Given the description of an element on the screen output the (x, y) to click on. 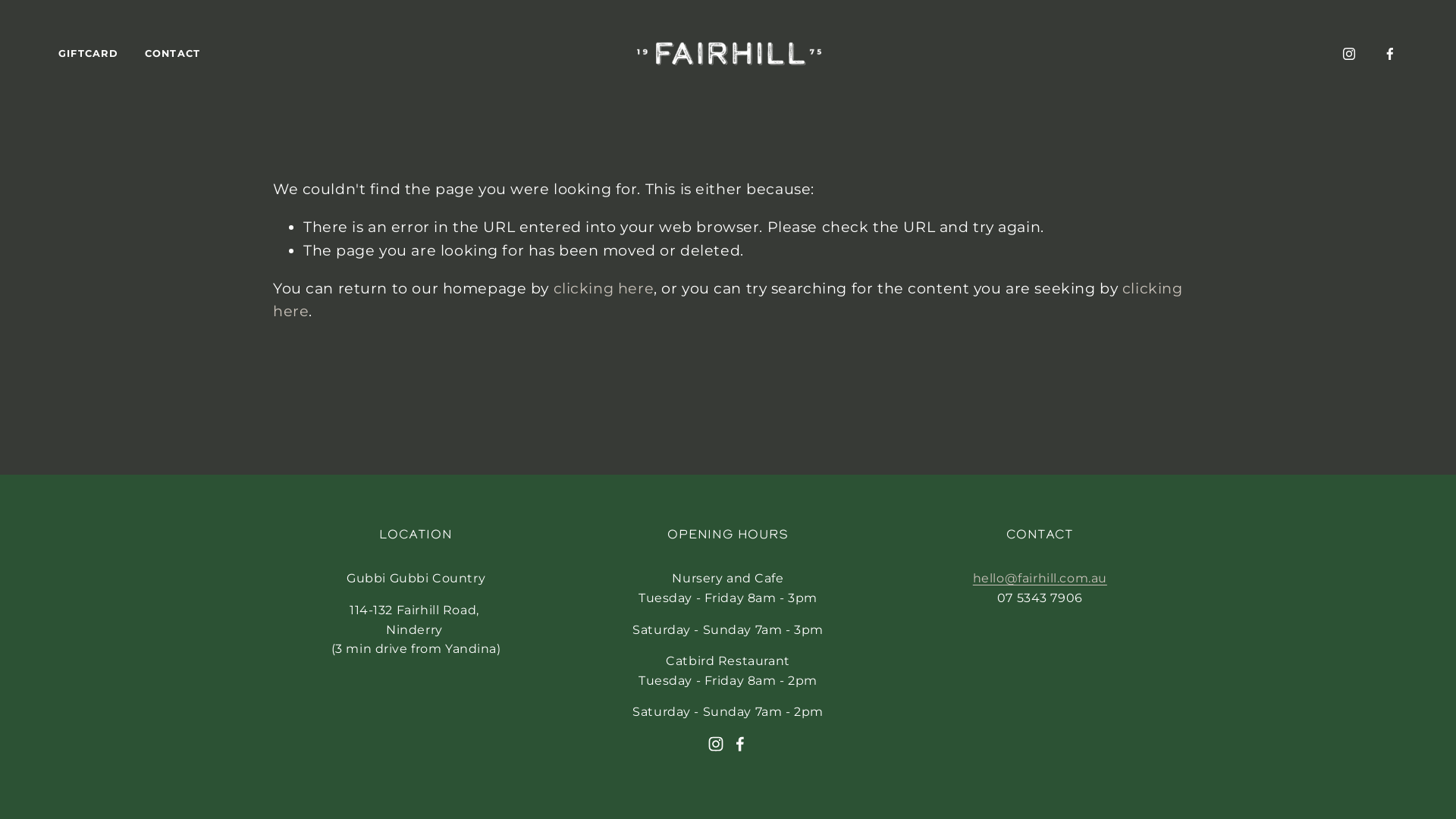
GIFTCARD Element type: text (88, 53)
clicking here Element type: text (727, 299)
clicking here Element type: text (603, 288)
CONTACT Element type: text (172, 53)
hello@fairhill.com.au Element type: text (1039, 578)
